Given the description of an element on the screen output the (x, y) to click on. 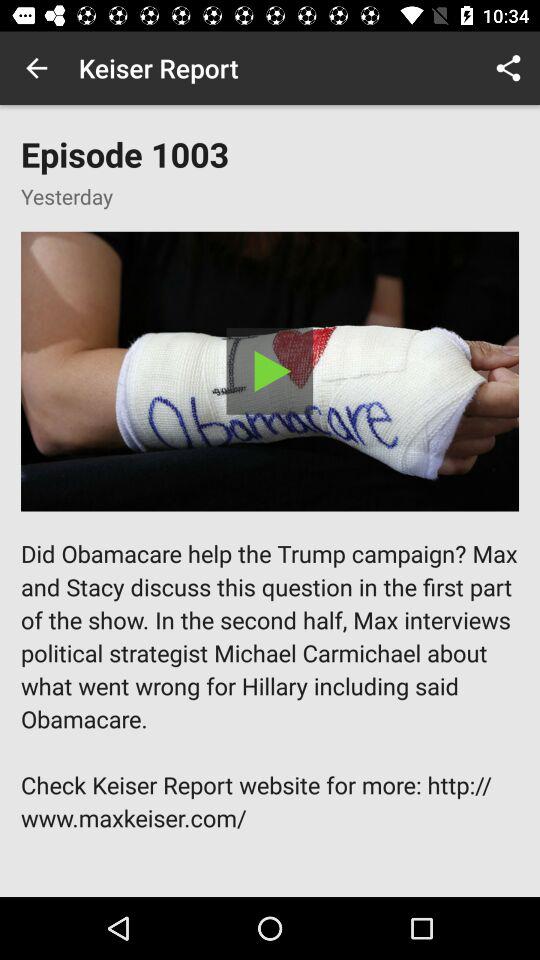
video area (270, 371)
